Given the description of an element on the screen output the (x, y) to click on. 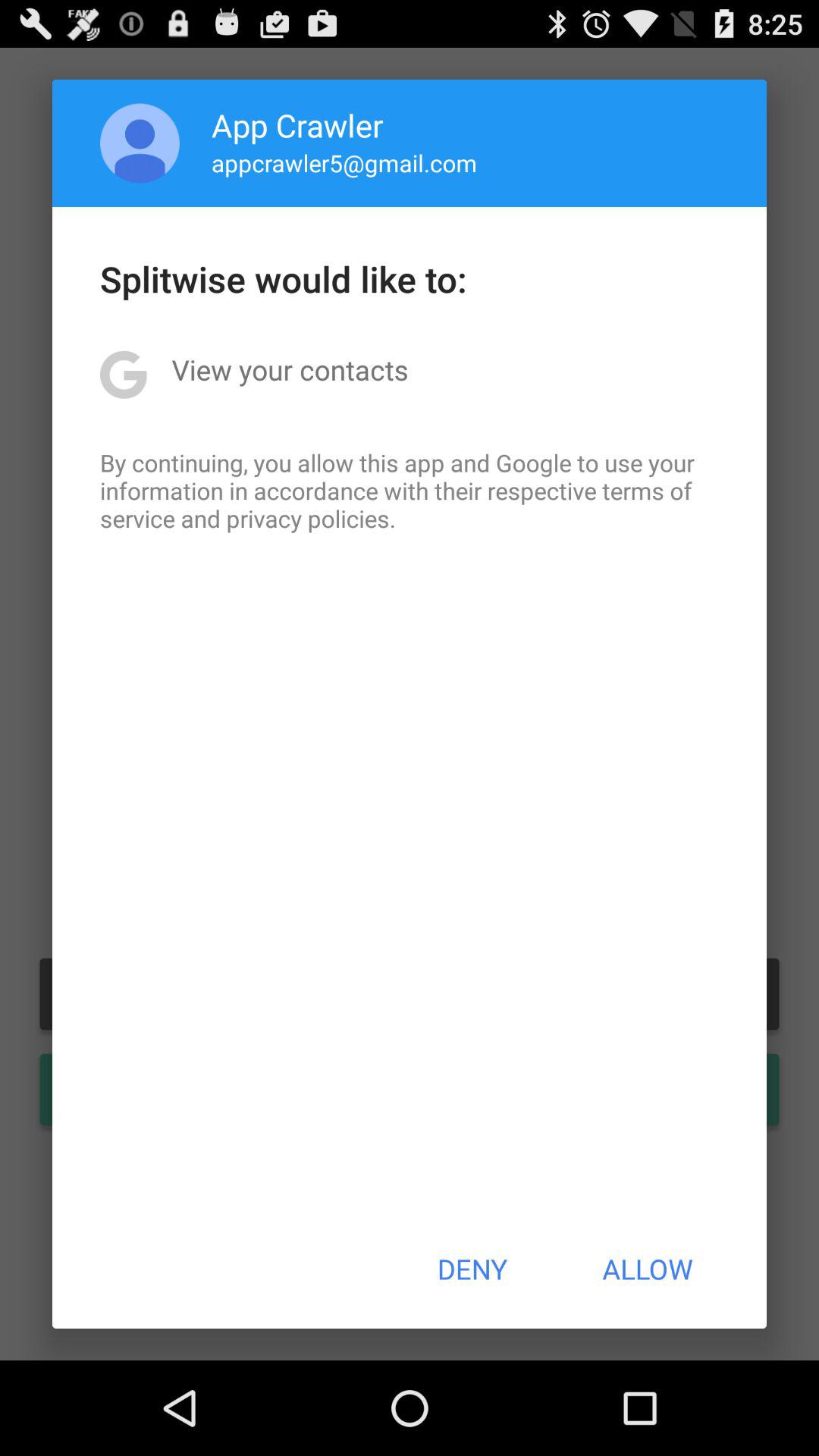
press app crawler item (297, 124)
